Given the description of an element on the screen output the (x, y) to click on. 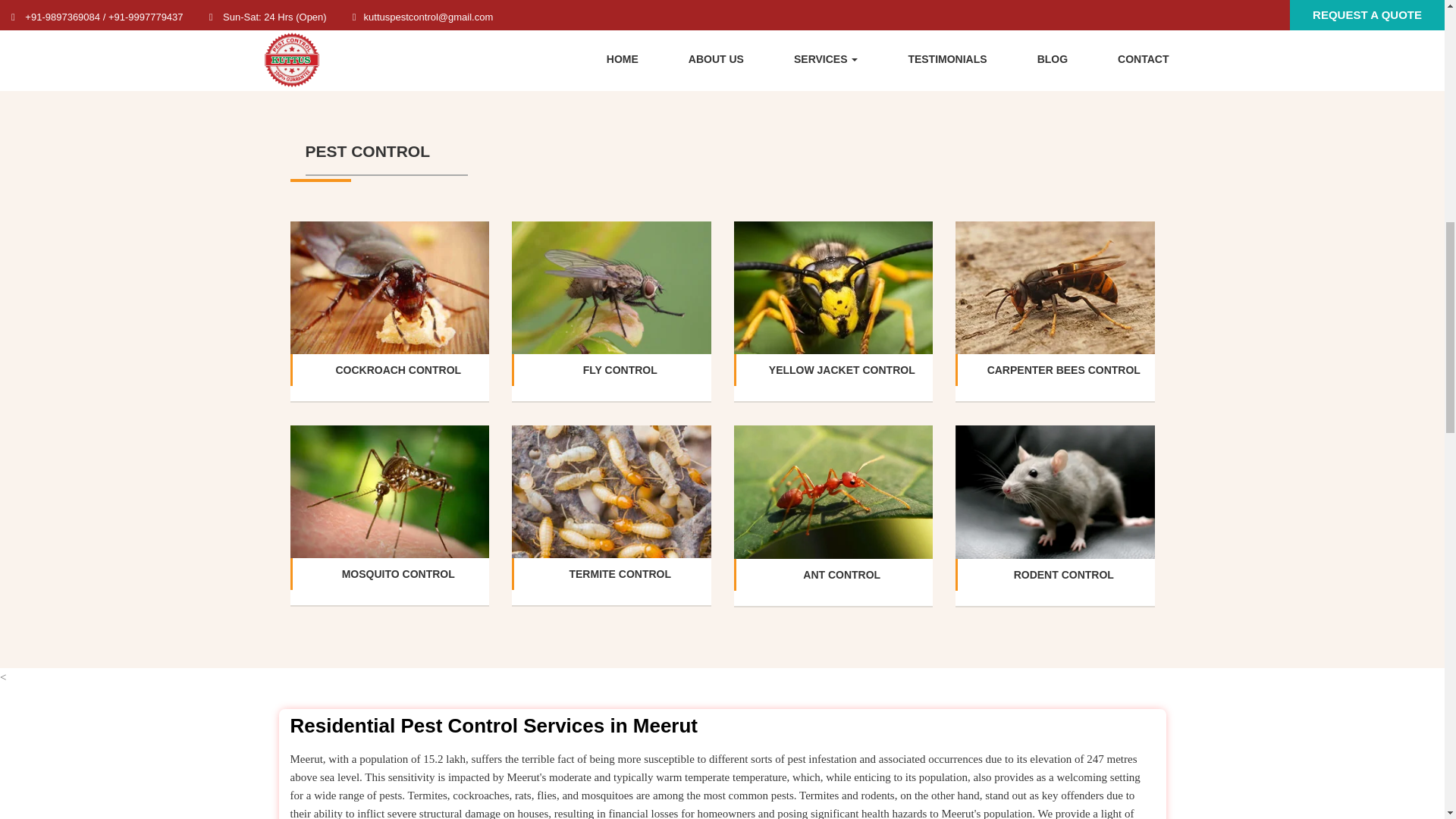
MOSQUITO CONTROL (398, 573)
YELLOW JACKET CONTROL (841, 369)
CARPENTER BEES CONTROL (1063, 369)
COCKROACH CONTROL (397, 369)
ANT CONTROL (841, 574)
FLY CONTROL (620, 369)
RODENT CONTROL (1063, 574)
TERMITE CONTROL (620, 573)
